Given the description of an element on the screen output the (x, y) to click on. 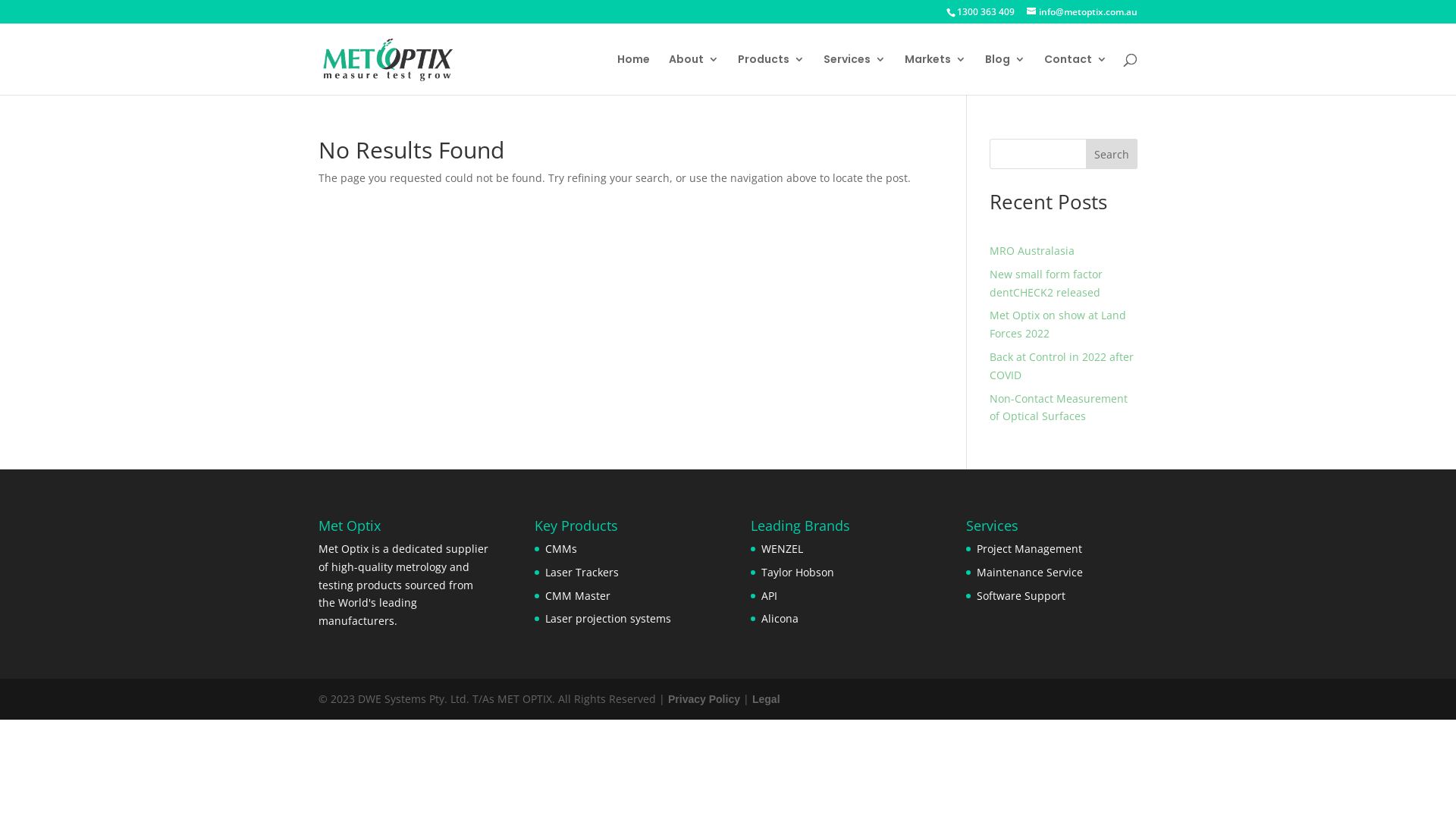
MRO Australasia Element type: text (1031, 250)
New small form factor dentCHECK2 released Element type: text (1045, 282)
Services Element type: text (854, 73)
Software Support Element type: text (1020, 595)
Project Management Element type: text (1029, 548)
CMMs Element type: text (561, 548)
Products Element type: text (770, 73)
API Element type: text (769, 595)
Met Optix on show at Land Forces 2022 Element type: text (1057, 323)
Legal Element type: text (766, 699)
Taylor Hobson Element type: text (797, 571)
Back at Control in 2022 after COVID Element type: text (1061, 365)
Privacy Policy Element type: text (704, 699)
info@metoptix.com.au Element type: text (1081, 11)
Non-Contact Measurement of Optical Surfaces Element type: text (1058, 407)
Alicona Element type: text (779, 618)
Maintenance Service Element type: text (1029, 571)
Contact Element type: text (1075, 73)
Markets Element type: text (935, 73)
CMM Master Element type: text (577, 595)
WENZEL Element type: text (782, 548)
Home Element type: text (633, 73)
About Element type: text (693, 73)
Blog Element type: text (1005, 73)
Laser projection systems Element type: text (608, 618)
Laser Trackers Element type: text (581, 571)
Search Element type: text (1111, 153)
